Given the description of an element on the screen output the (x, y) to click on. 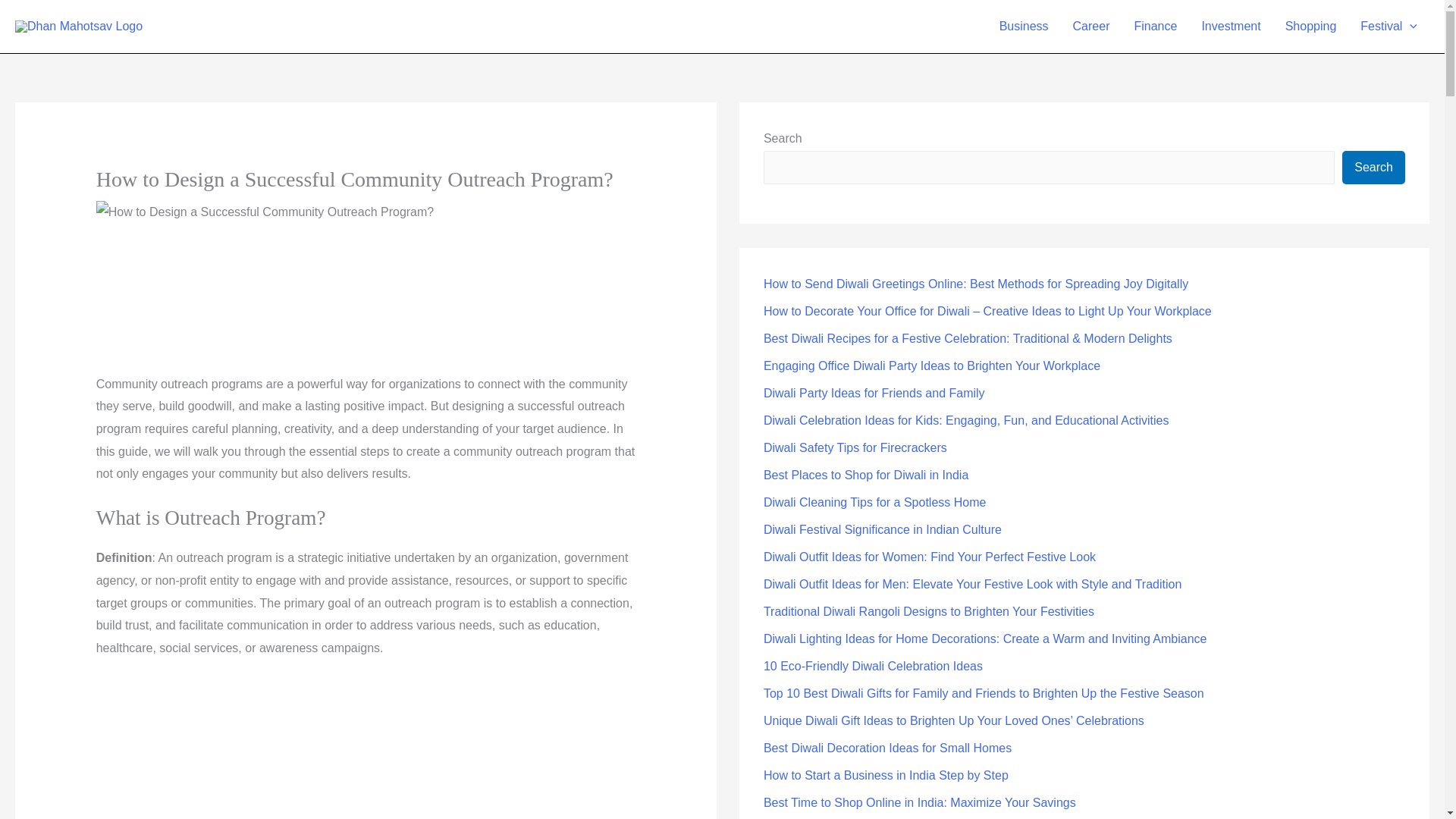
Finance (1155, 26)
Advertisement (334, 748)
Advertisement (366, 307)
Career (1091, 26)
Shopping (1310, 26)
Business (1024, 26)
Investment (1230, 26)
Festival (1388, 26)
